Given the description of an element on the screen output the (x, y) to click on. 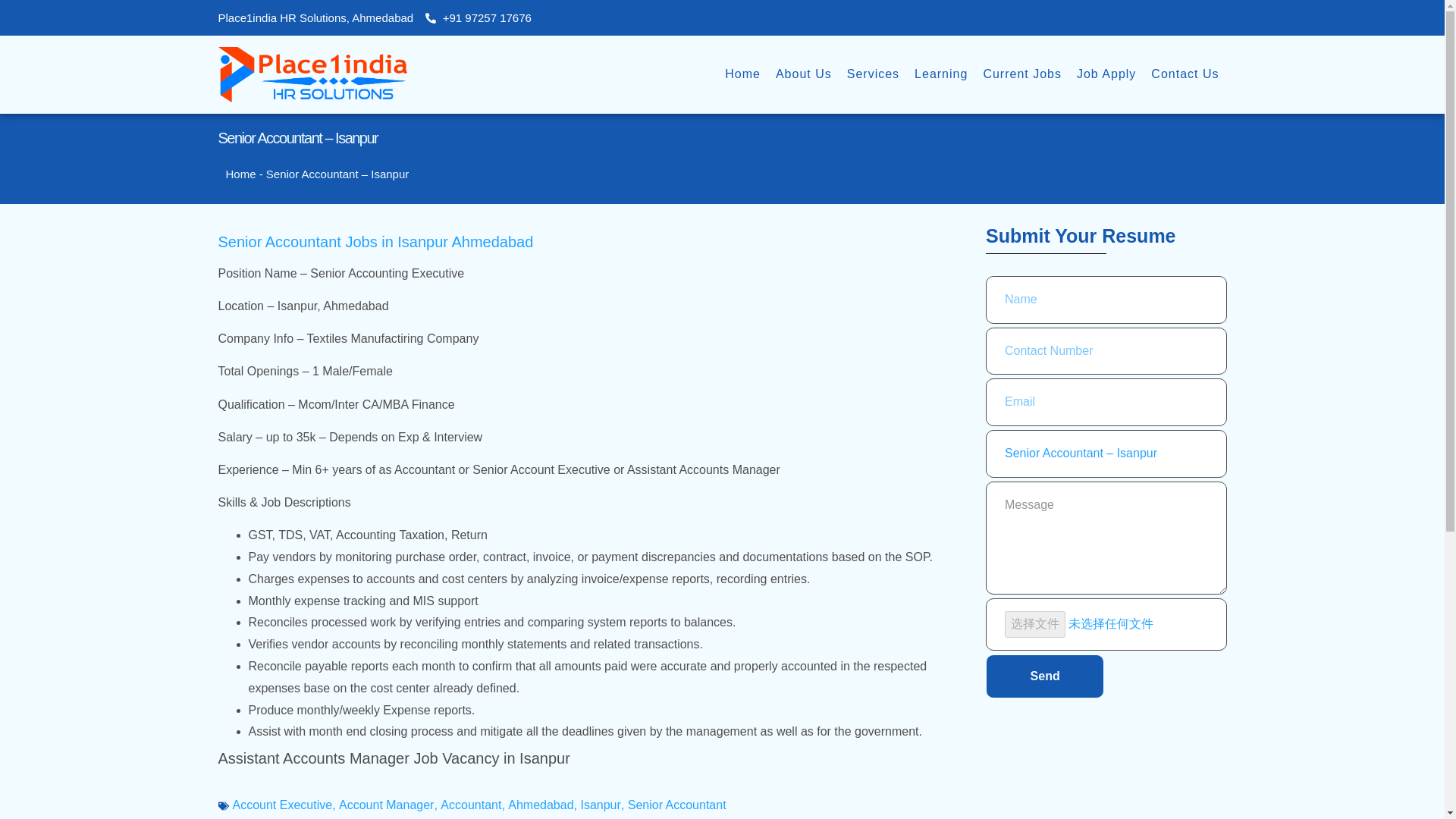
Services (873, 73)
Job Apply (1105, 73)
Home (742, 73)
Learning (941, 73)
Current Jobs (1021, 73)
About Us (804, 73)
Contact Us (1183, 73)
